Given the description of an element on the screen output the (x, y) to click on. 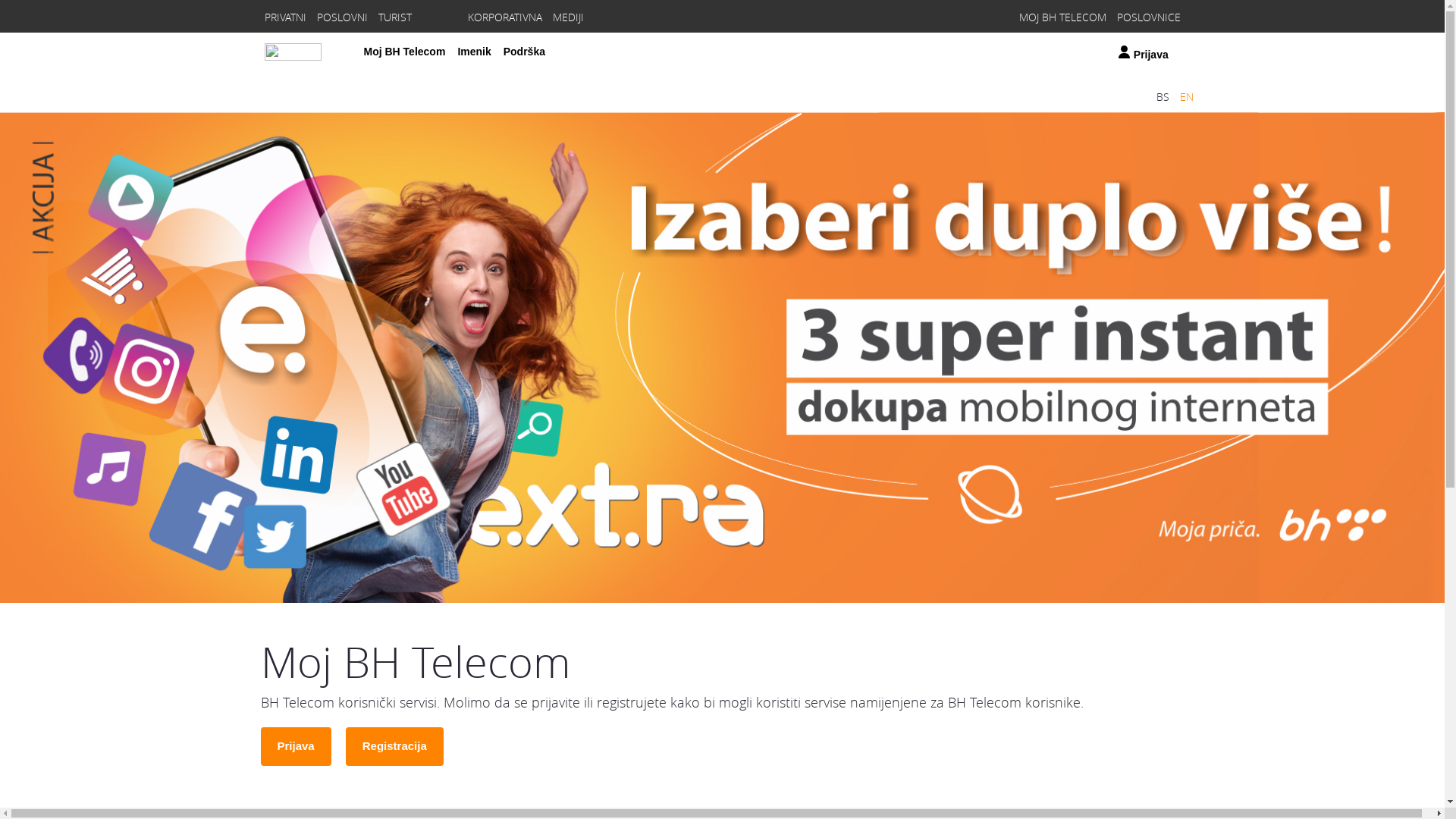
KORPORATIVNA Element type: text (504, 16)
MEDIJI Element type: text (567, 16)
Prijava Element type: text (295, 746)
Moj BH Telecom Element type: text (404, 51)
POSLOVNICE Element type: text (1147, 16)
POSLOVNI Element type: text (341, 16)
EN Element type: text (1185, 96)
TURIST Element type: text (394, 16)
Imenik Element type: text (473, 51)
Prijava   Element type: text (1145, 54)
PRIVATNI Element type: text (284, 16)
Registracija Element type: text (394, 746)
MOJ BH TELECOM Element type: text (1062, 16)
